Given the description of an element on the screen output the (x, y) to click on. 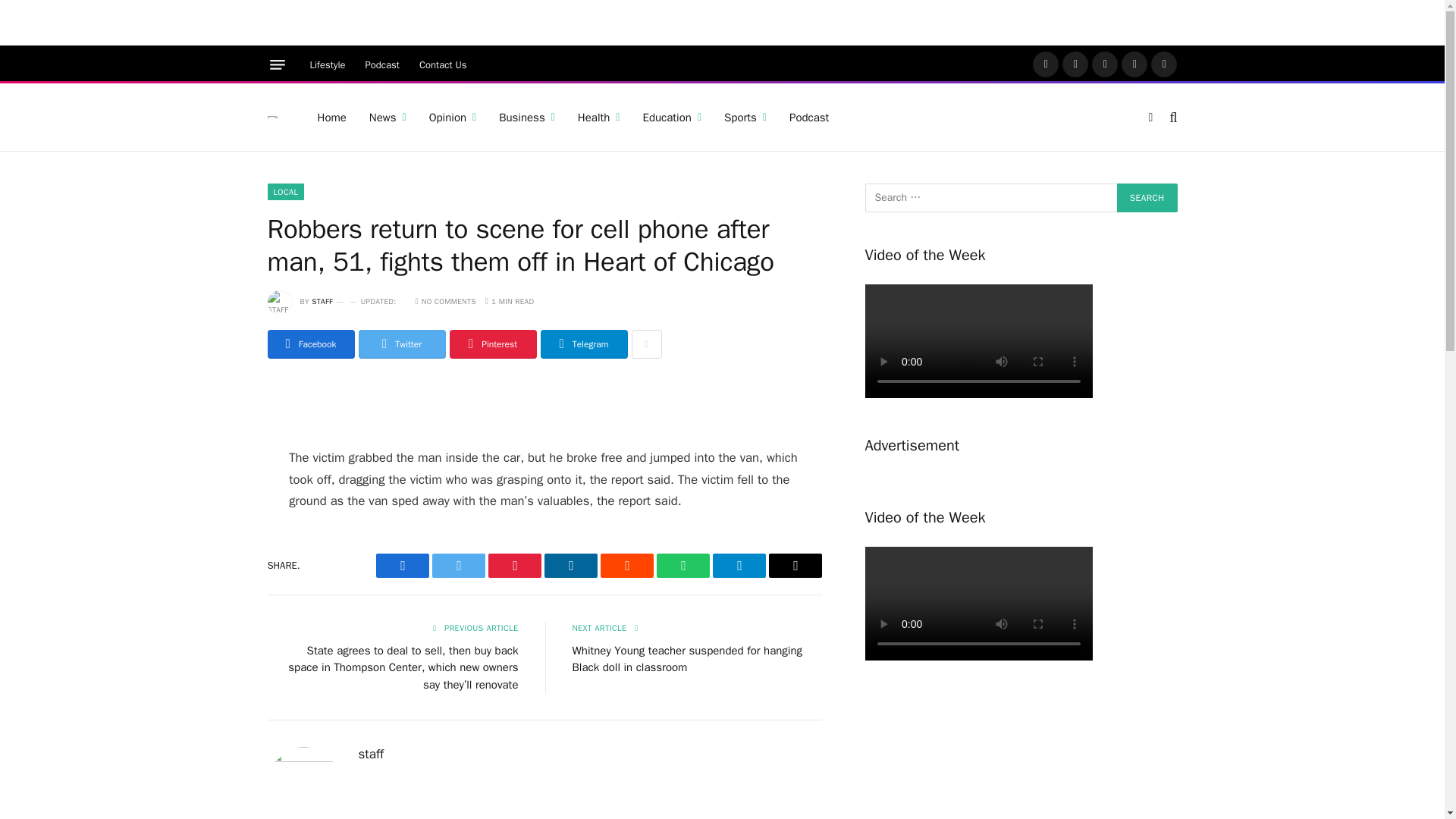
Lifestyle (327, 64)
Contact Us (443, 64)
Podcast (382, 64)
Facebook (1045, 63)
Vimeo (1163, 63)
Search (1146, 197)
Instagram (1105, 63)
Search (1146, 197)
Pinterest (1134, 63)
